Given the description of an element on the screen output the (x, y) to click on. 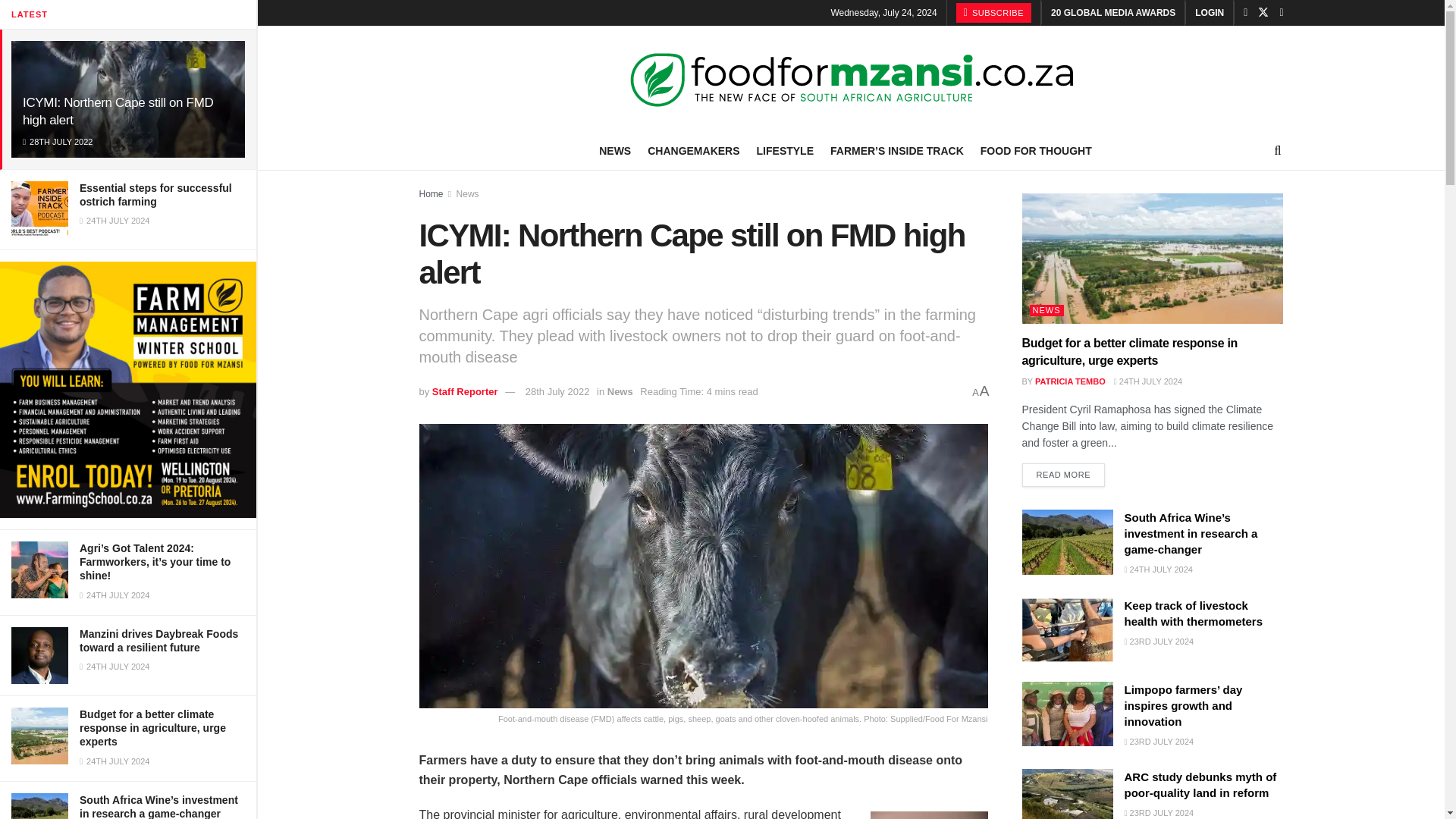
Essential steps for successful ostrich farming (155, 194)
Manzini drives Daybreak Foods toward a resilient future (159, 640)
ICYMI: Northern Cape still on FMD high alert (117, 111)
LIFESTYLE (785, 150)
LOGIN (1209, 12)
SUBSCRIBE (993, 12)
FOOD FOR THOUGHT (1035, 150)
CHANGEMAKERS (693, 150)
NEWS (614, 150)
